Given the description of an element on the screen output the (x, y) to click on. 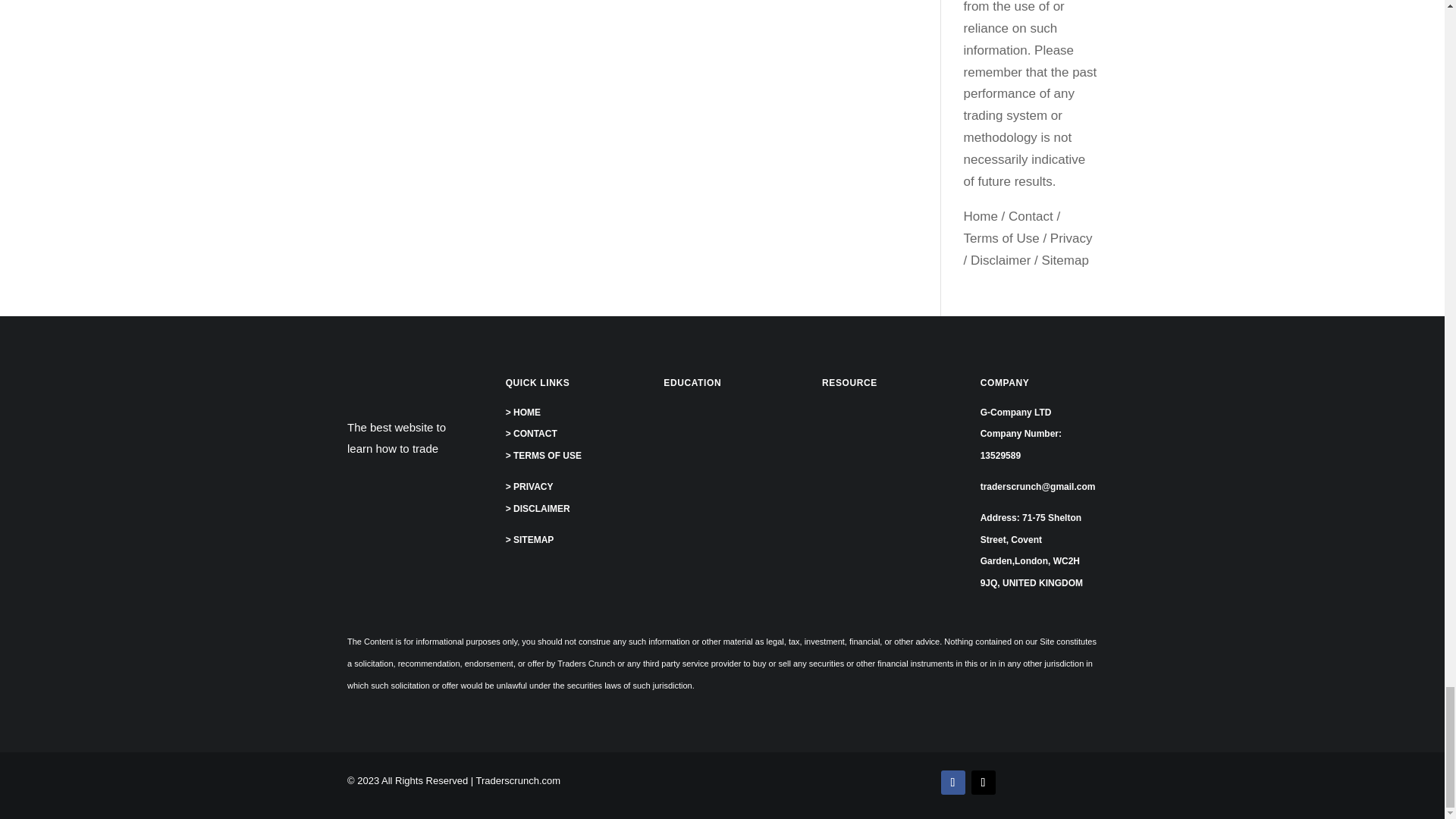
Disclaimer (1000, 260)
Home (980, 216)
Sitemap (1065, 260)
Terms of Use (1001, 237)
Follow on X (983, 782)
Contact (1030, 216)
Privacy (1071, 237)
Follow on Facebook (952, 782)
